Given the description of an element on the screen output the (x, y) to click on. 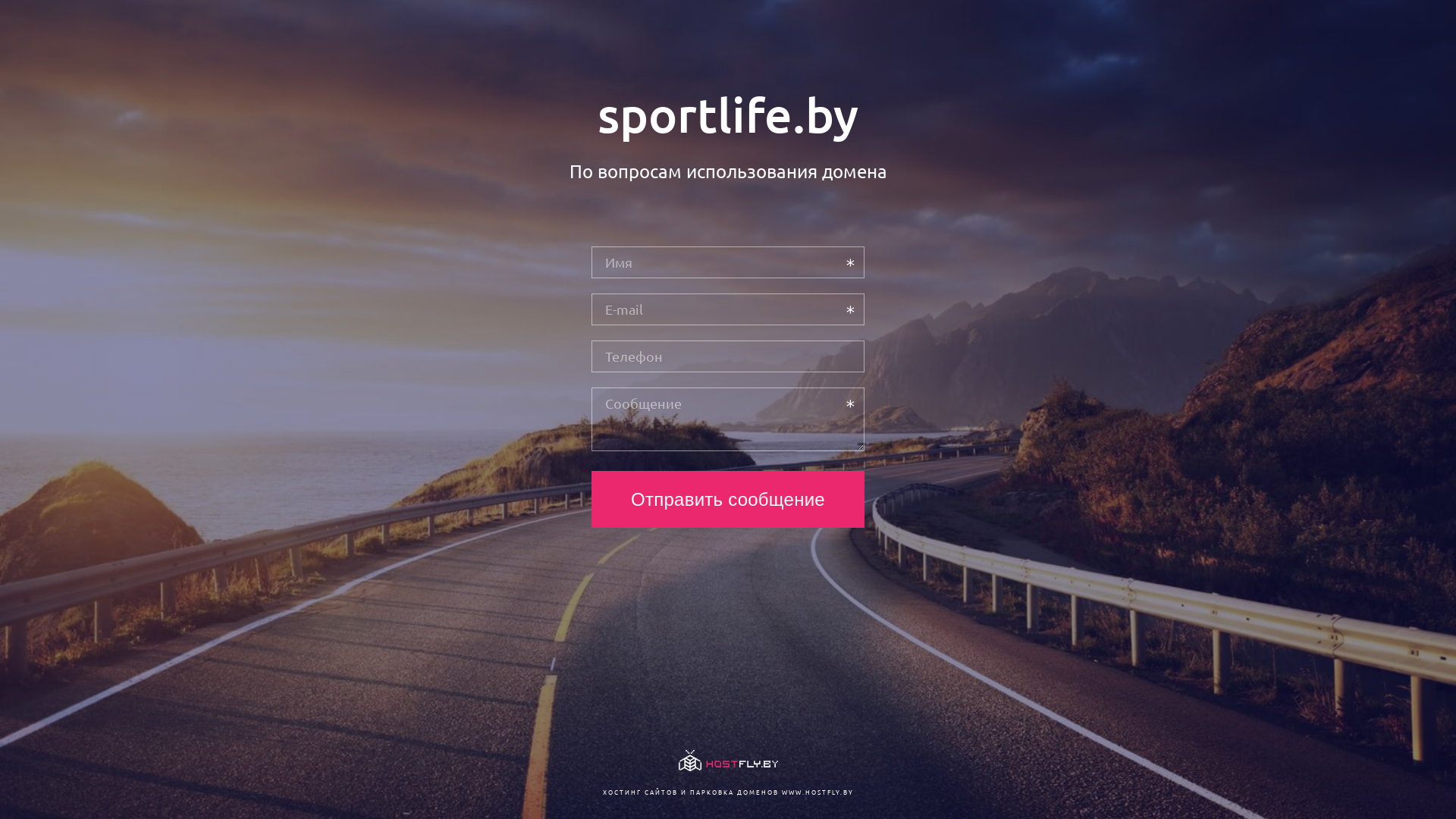
WWW.HOSTFLY.BY Element type: text (817, 791)
